Given the description of an element on the screen output the (x, y) to click on. 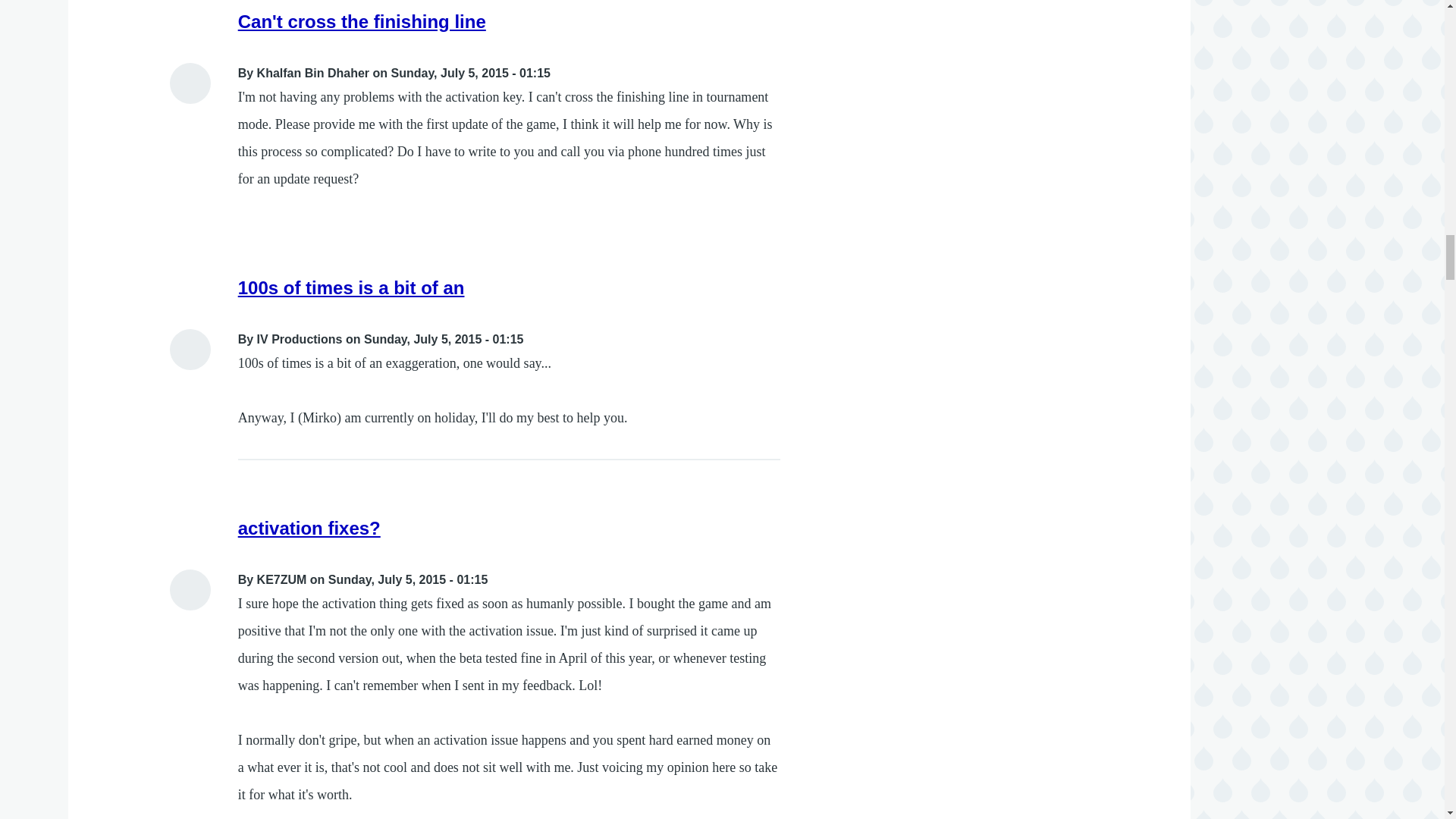
Can't cross the finishing line (362, 21)
100s of times is a bit of an (351, 287)
